Given the description of an element on the screen output the (x, y) to click on. 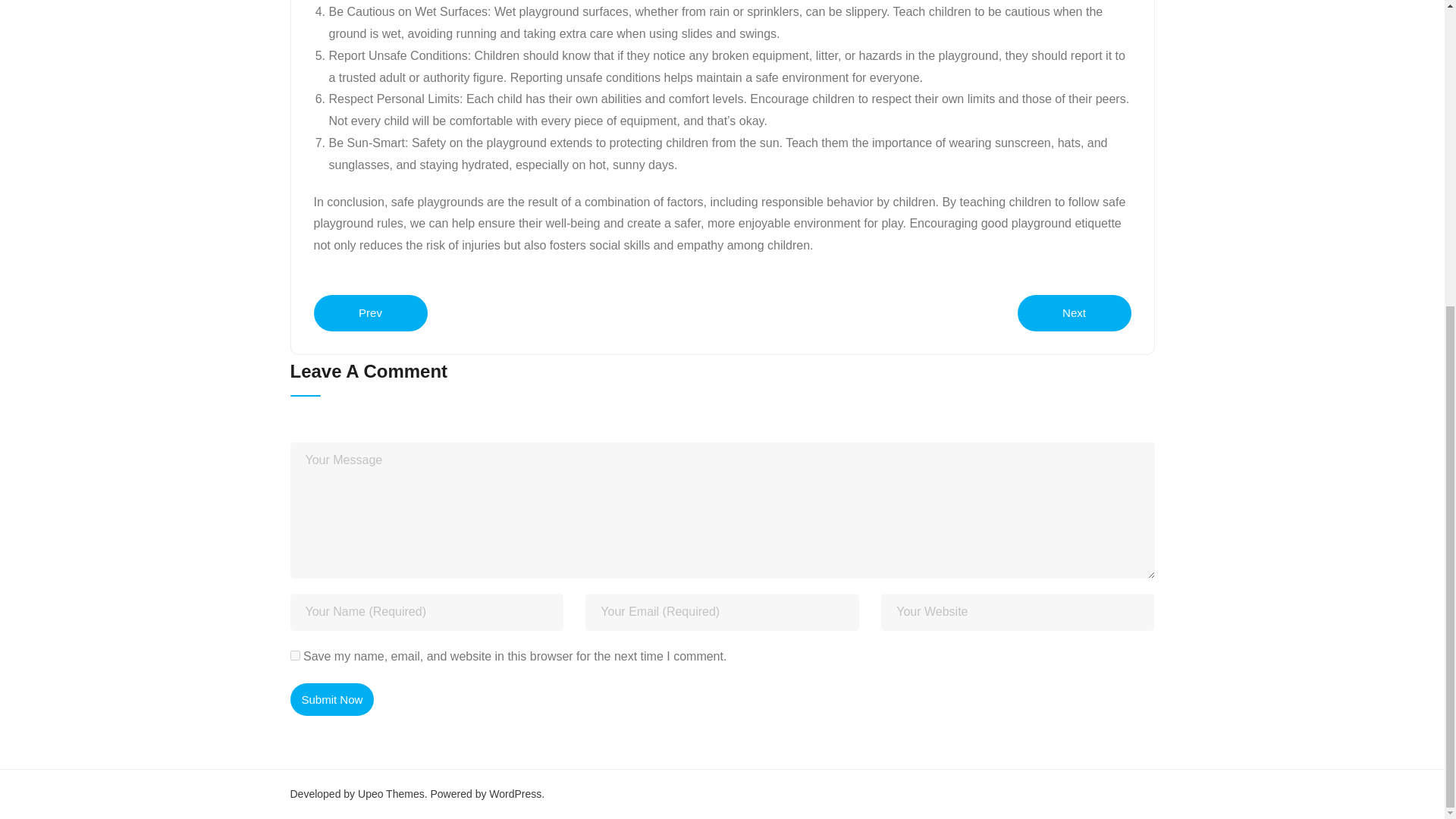
Submit Now (331, 699)
yes (294, 655)
